Given the description of an element on the screen output the (x, y) to click on. 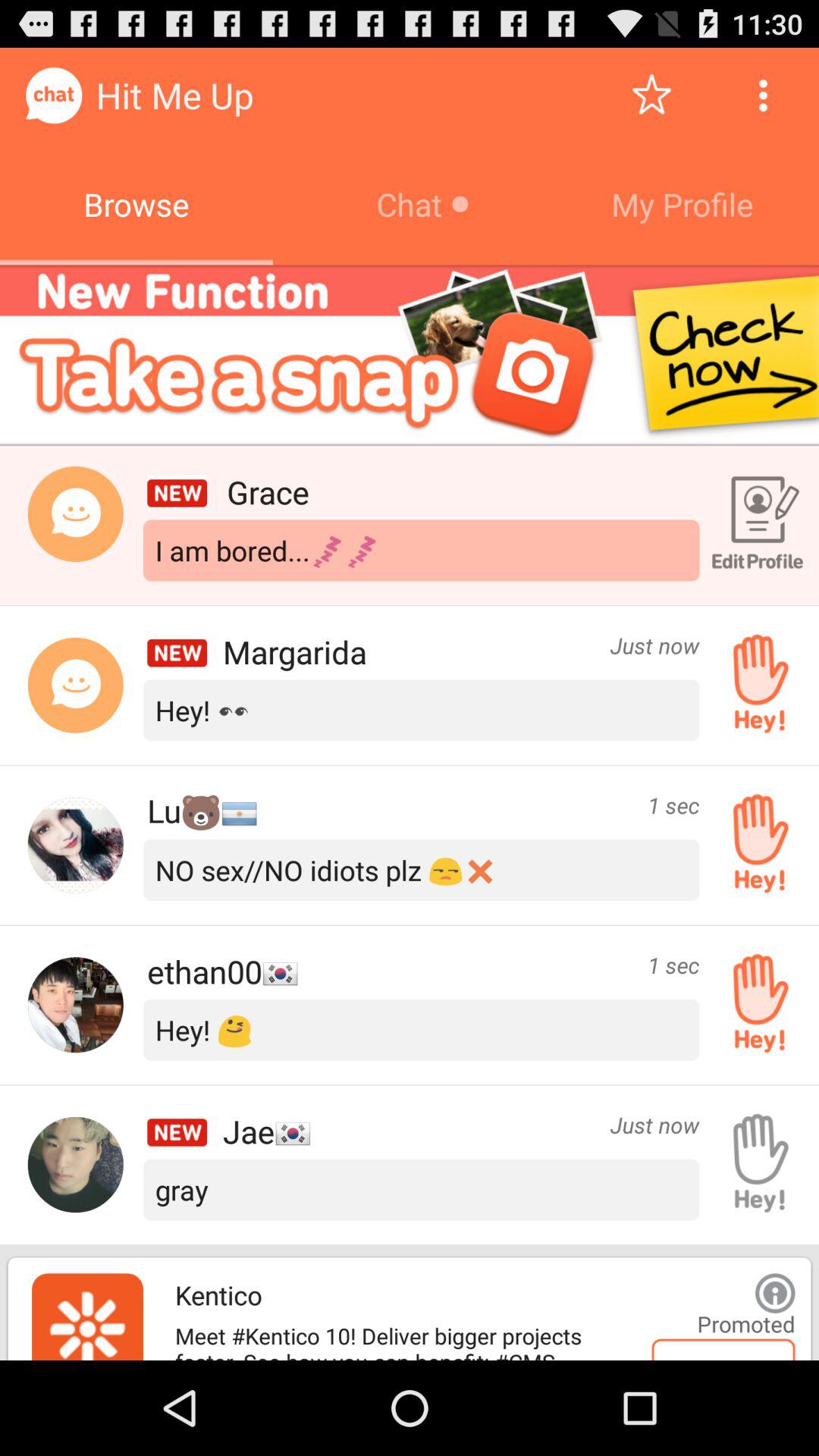
reply hey (755, 1004)
